Given the description of an element on the screen output the (x, y) to click on. 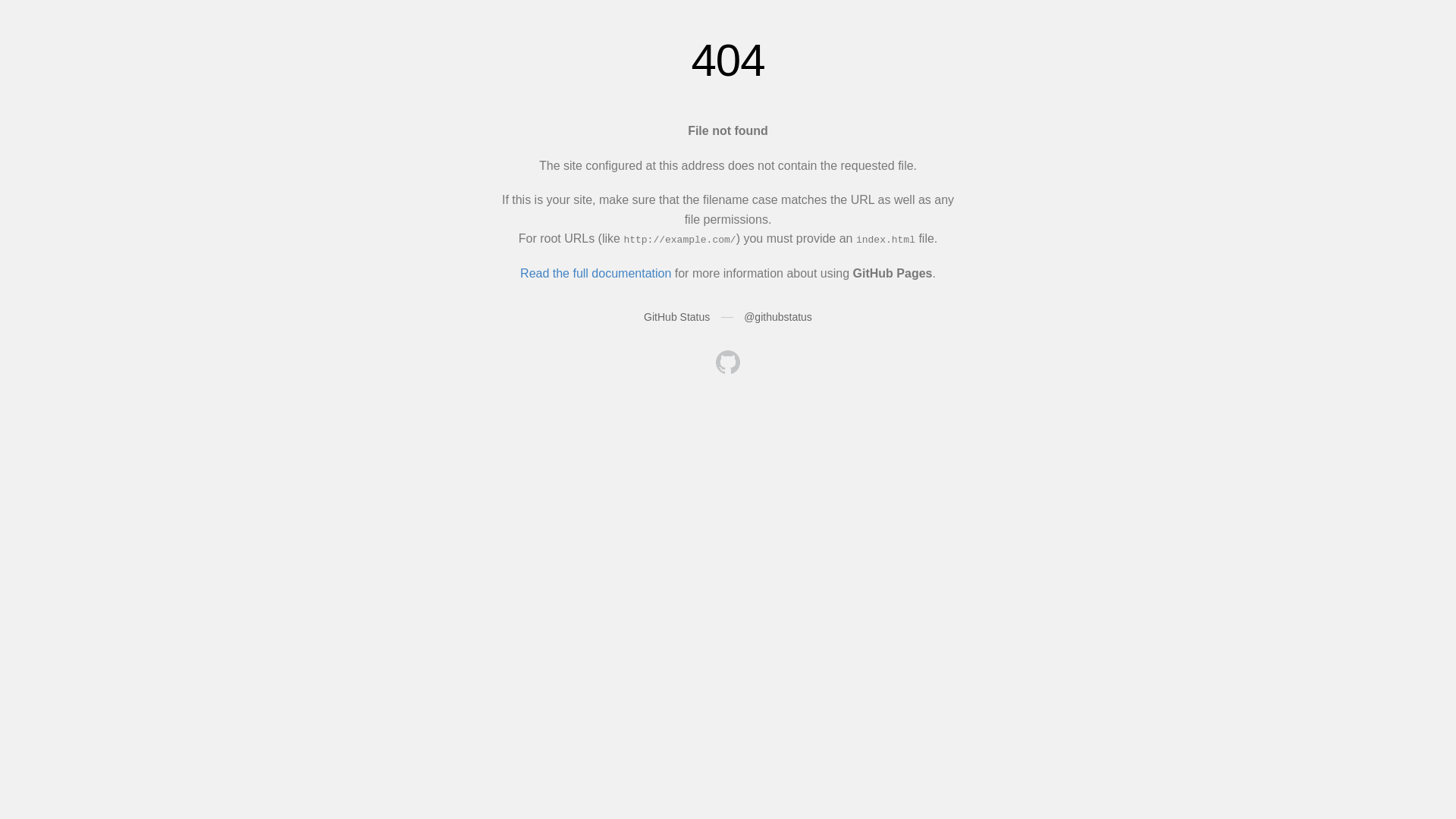
Read the full documentation Element type: text (595, 272)
@githubstatus Element type: text (777, 316)
GitHub Status Element type: text (676, 316)
